Given the description of an element on the screen output the (x, y) to click on. 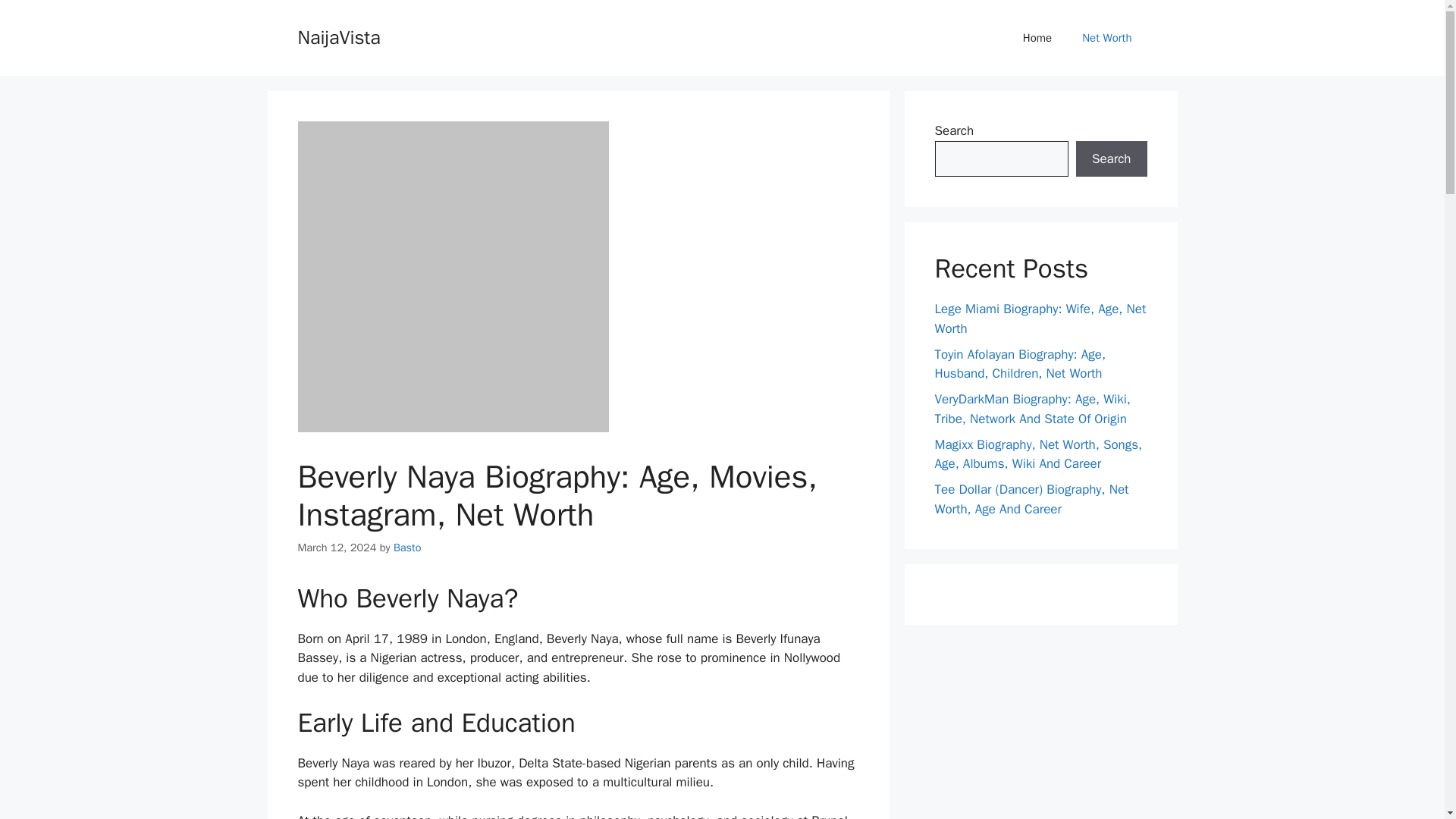
Basto (407, 547)
View all posts by Basto (407, 547)
NaijaVista (338, 37)
Search (1111, 158)
Lege Miami Biography: Wife, Age, Net Worth (1039, 318)
Beverly Naya Biography: Age, Movies, Instagram, Net Worth (452, 276)
Home (1037, 37)
Toyin Afolayan Biography: Age, Husband, Children, Net Worth (1019, 363)
Net Worth (1107, 37)
